Given the description of an element on the screen output the (x, y) to click on. 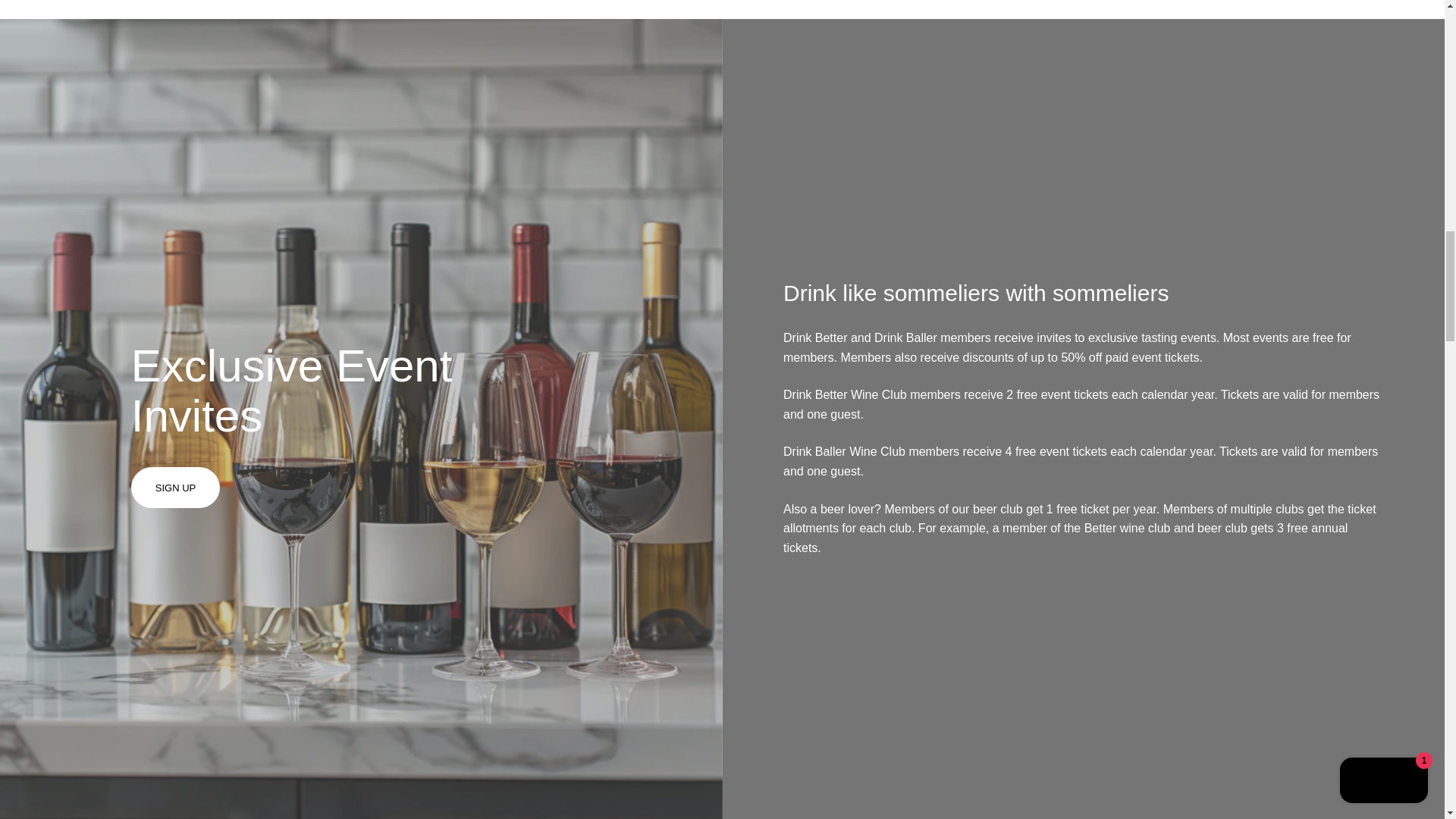
SIGN UP (175, 486)
Sign Up (175, 486)
